Given the description of an element on the screen output the (x, y) to click on. 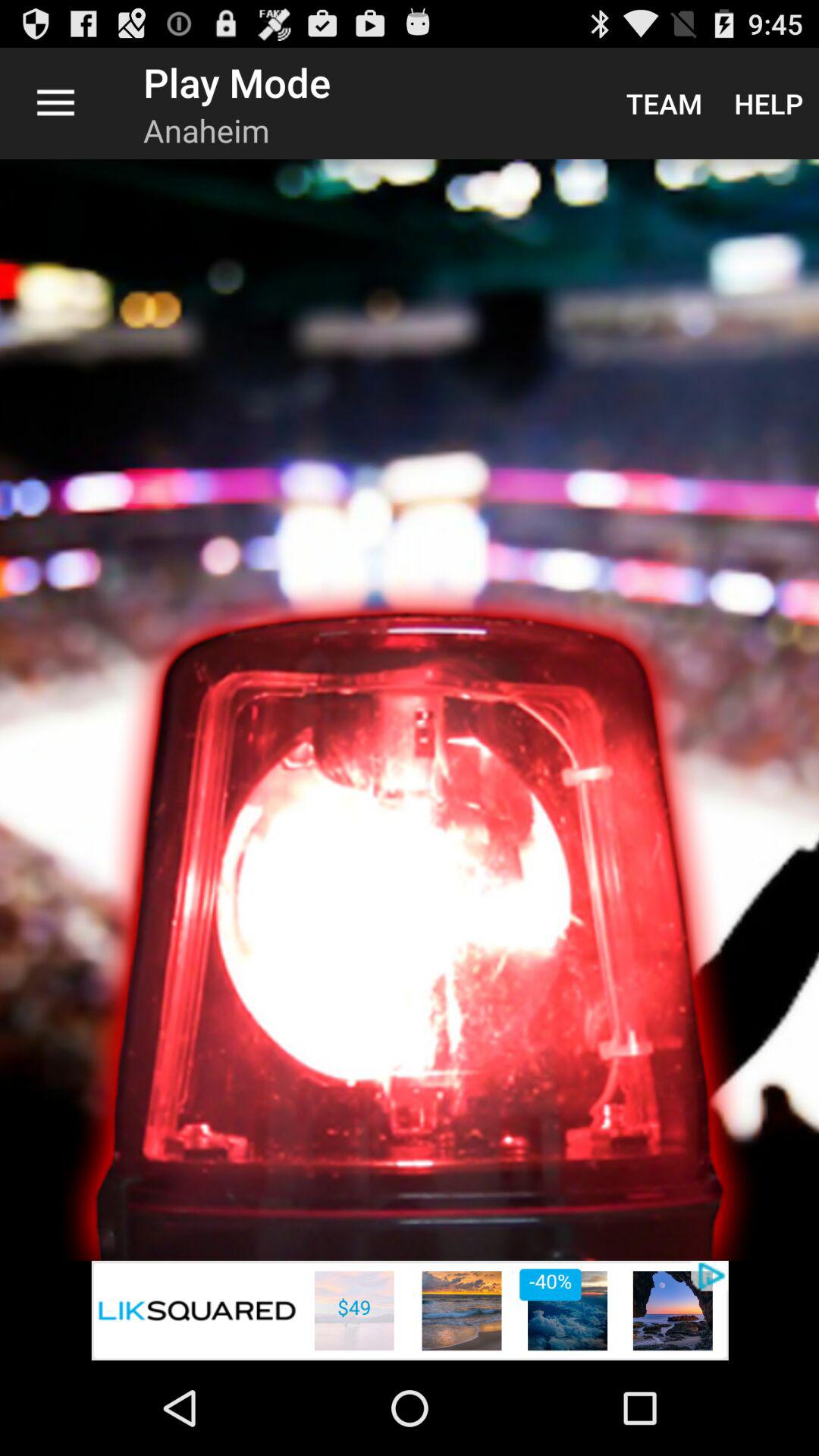
go to advertisement website (409, 1310)
